Given the description of an element on the screen output the (x, y) to click on. 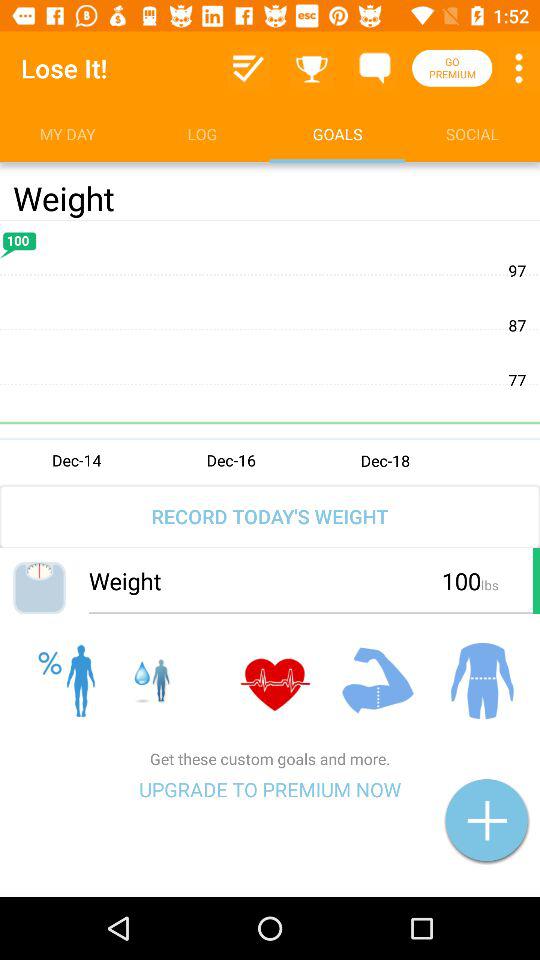
save the information (248, 67)
